Given the description of an element on the screen output the (x, y) to click on. 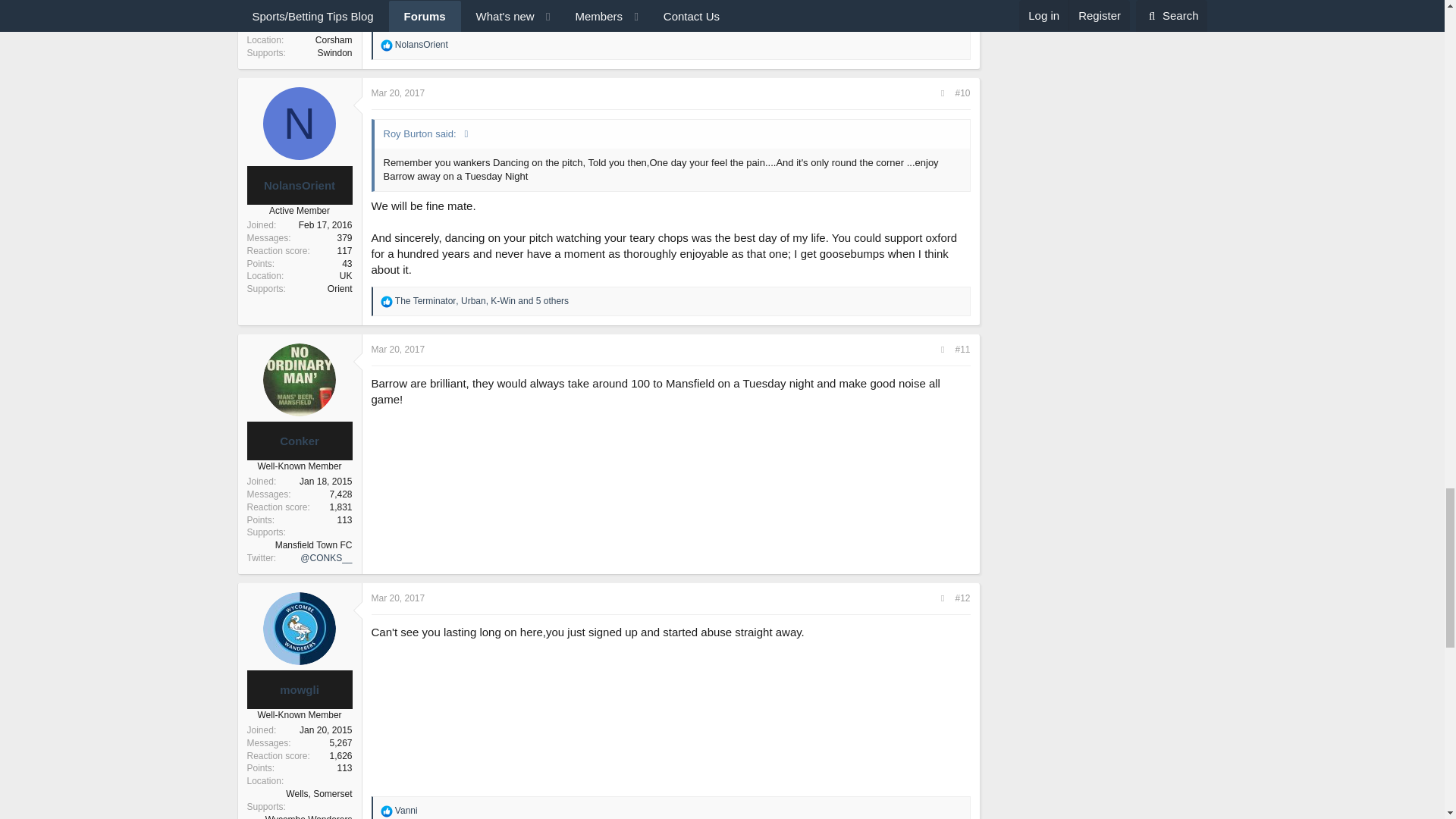
Like (386, 45)
